Given the description of an element on the screen output the (x, y) to click on. 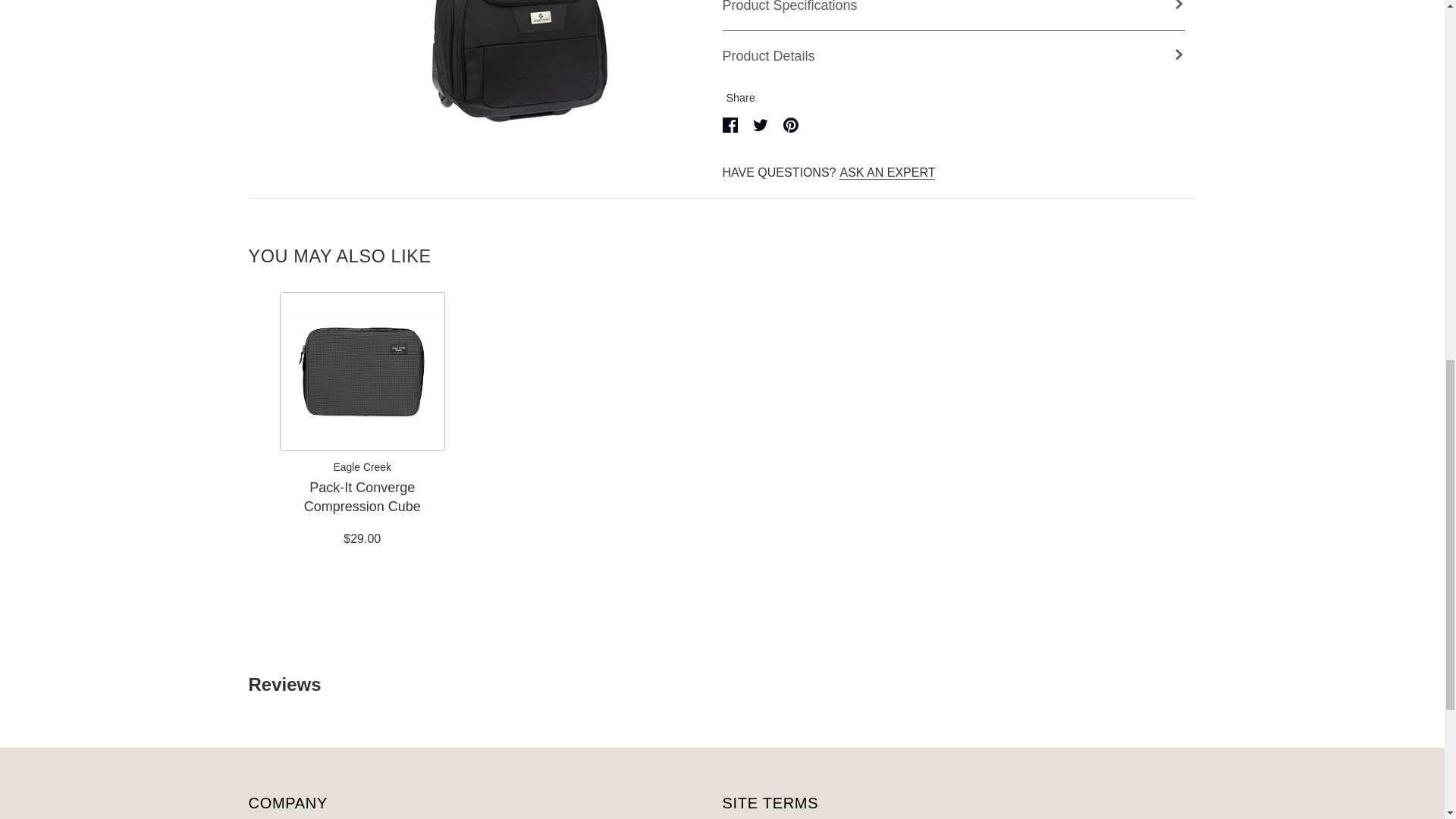
Ask An Expert (887, 172)
